Given the description of an element on the screen output the (x, y) to click on. 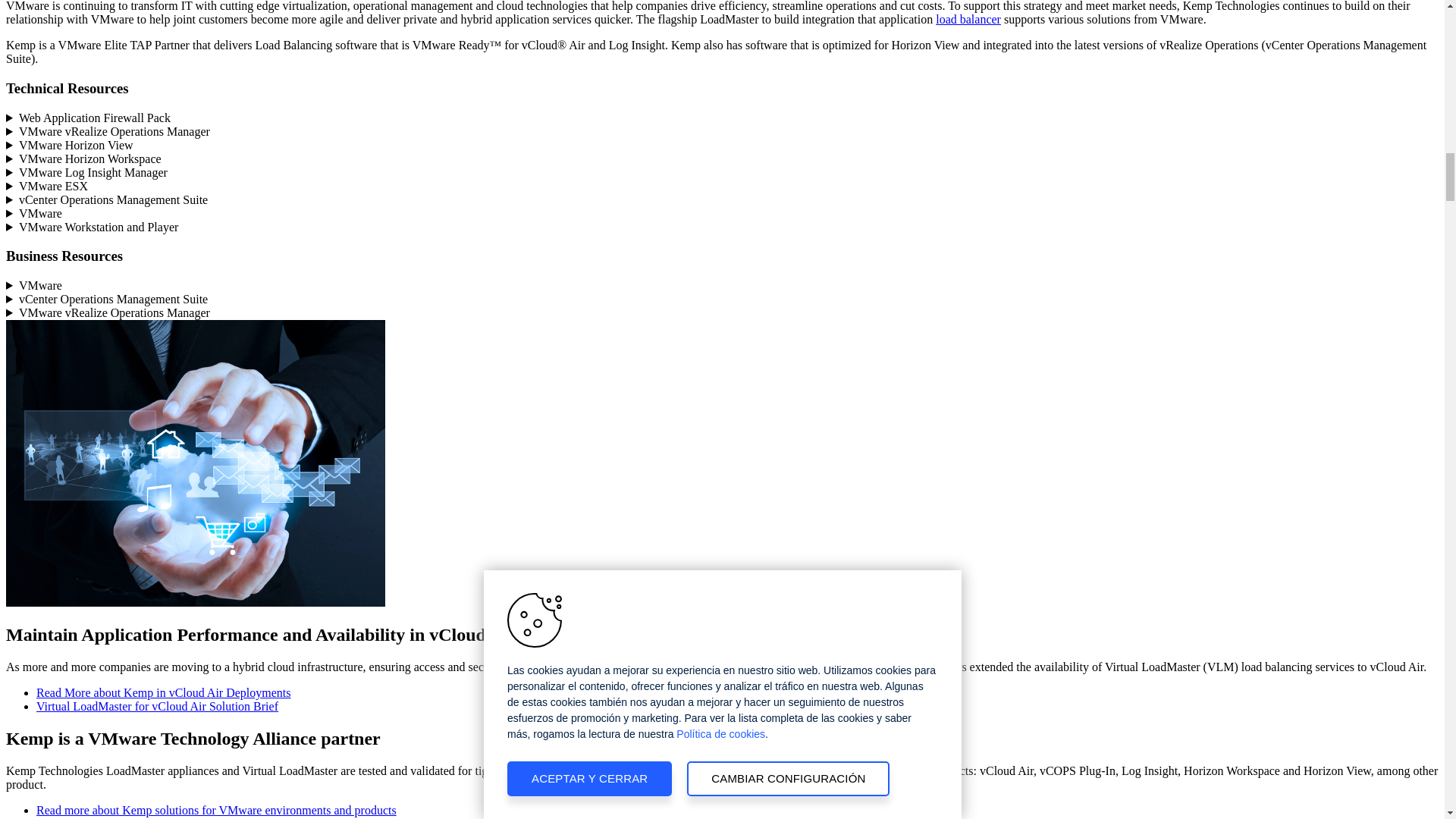
cloud-hands (195, 463)
